Given the description of an element on the screen output the (x, y) to click on. 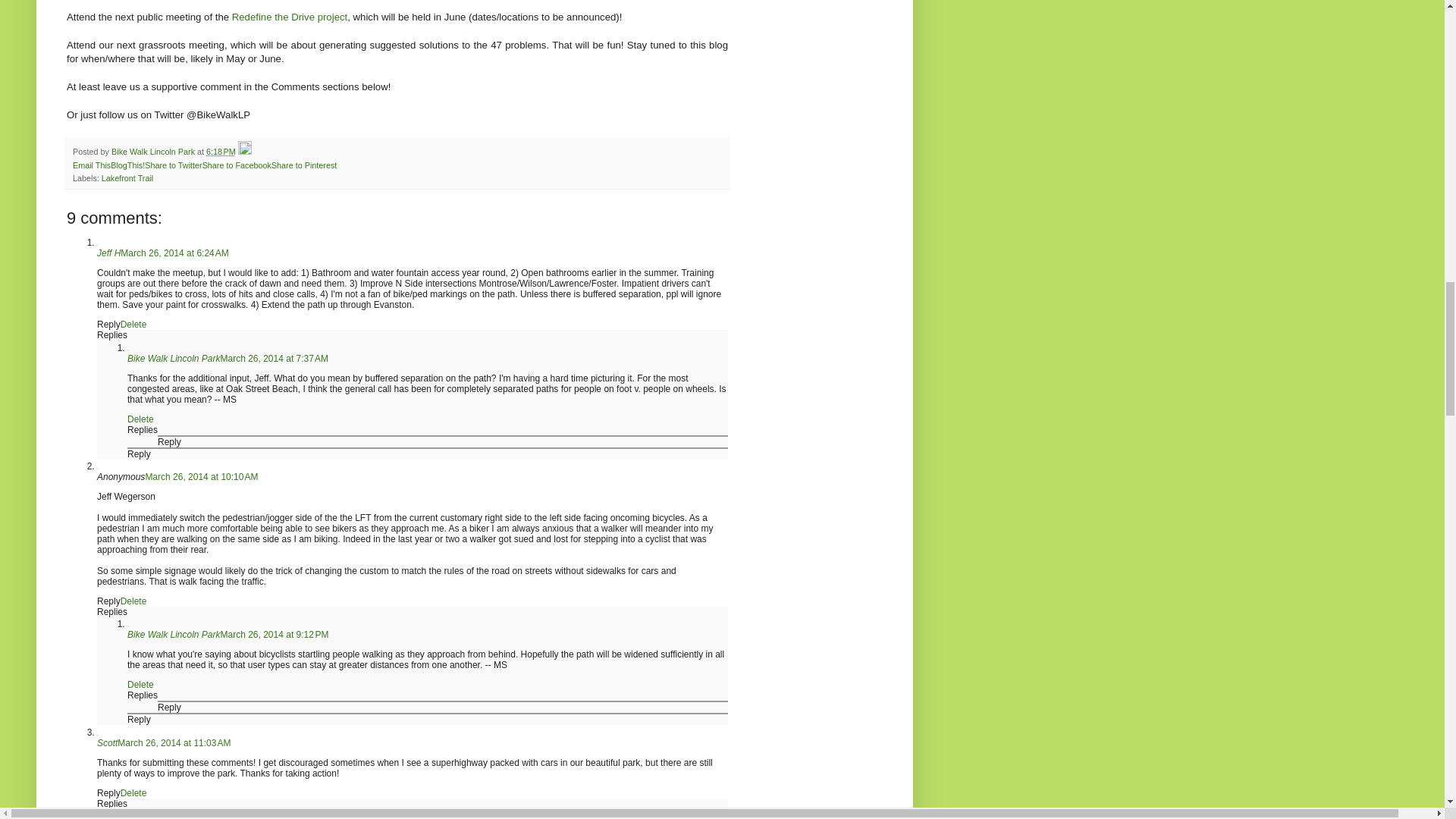
Reply (108, 324)
Reply (108, 601)
Email This (91, 164)
Delete (133, 324)
Share to Pinterest (303, 164)
Bike Walk Lincoln Park (174, 357)
Reply (139, 719)
Email This (91, 164)
Share to Twitter (173, 164)
Delete (133, 601)
Jeff H (108, 253)
Reply (168, 706)
Reply (168, 441)
